Given the description of an element on the screen output the (x, y) to click on. 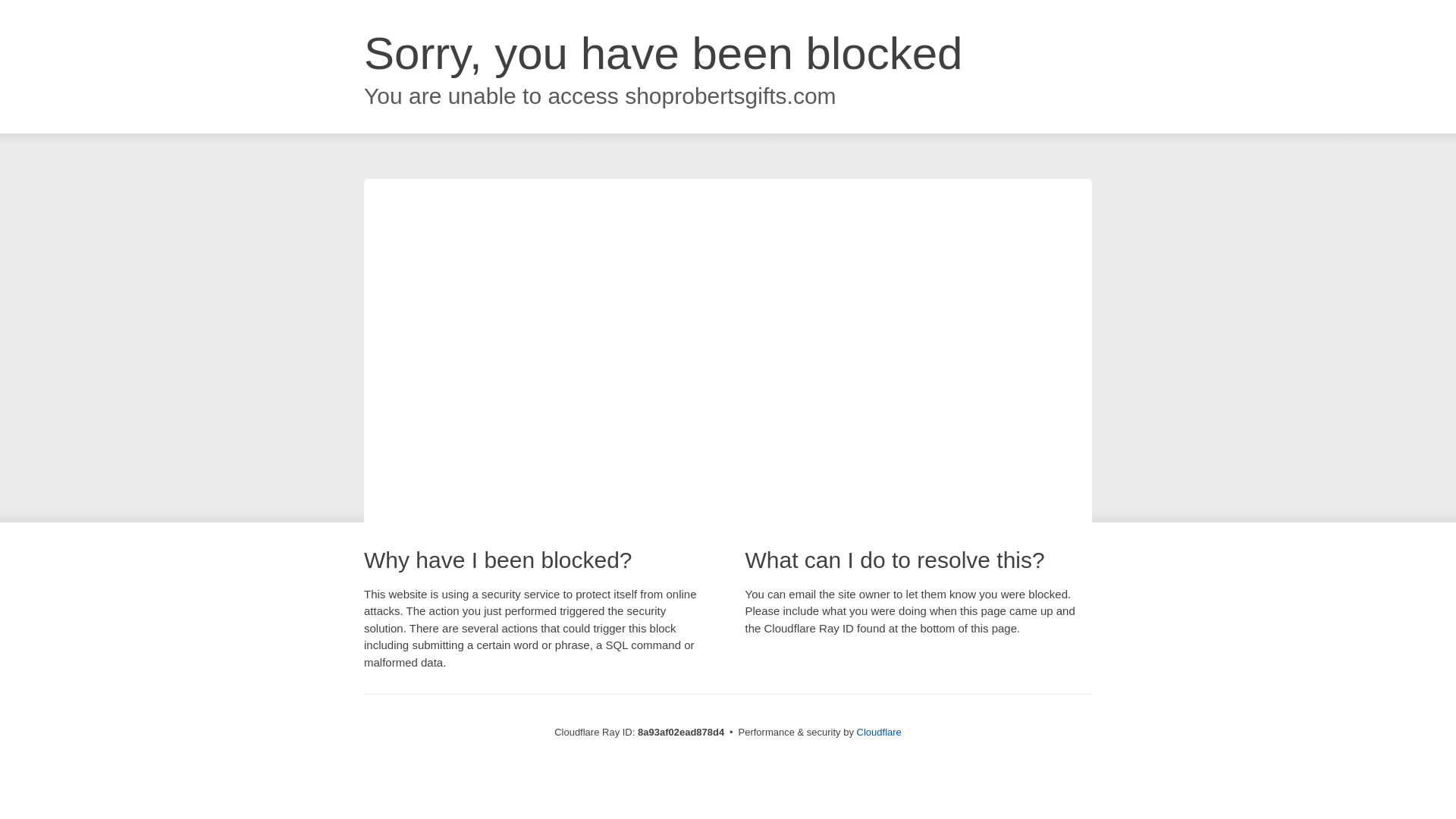
Cloudflare (879, 731)
